Given the description of an element on the screen output the (x, y) to click on. 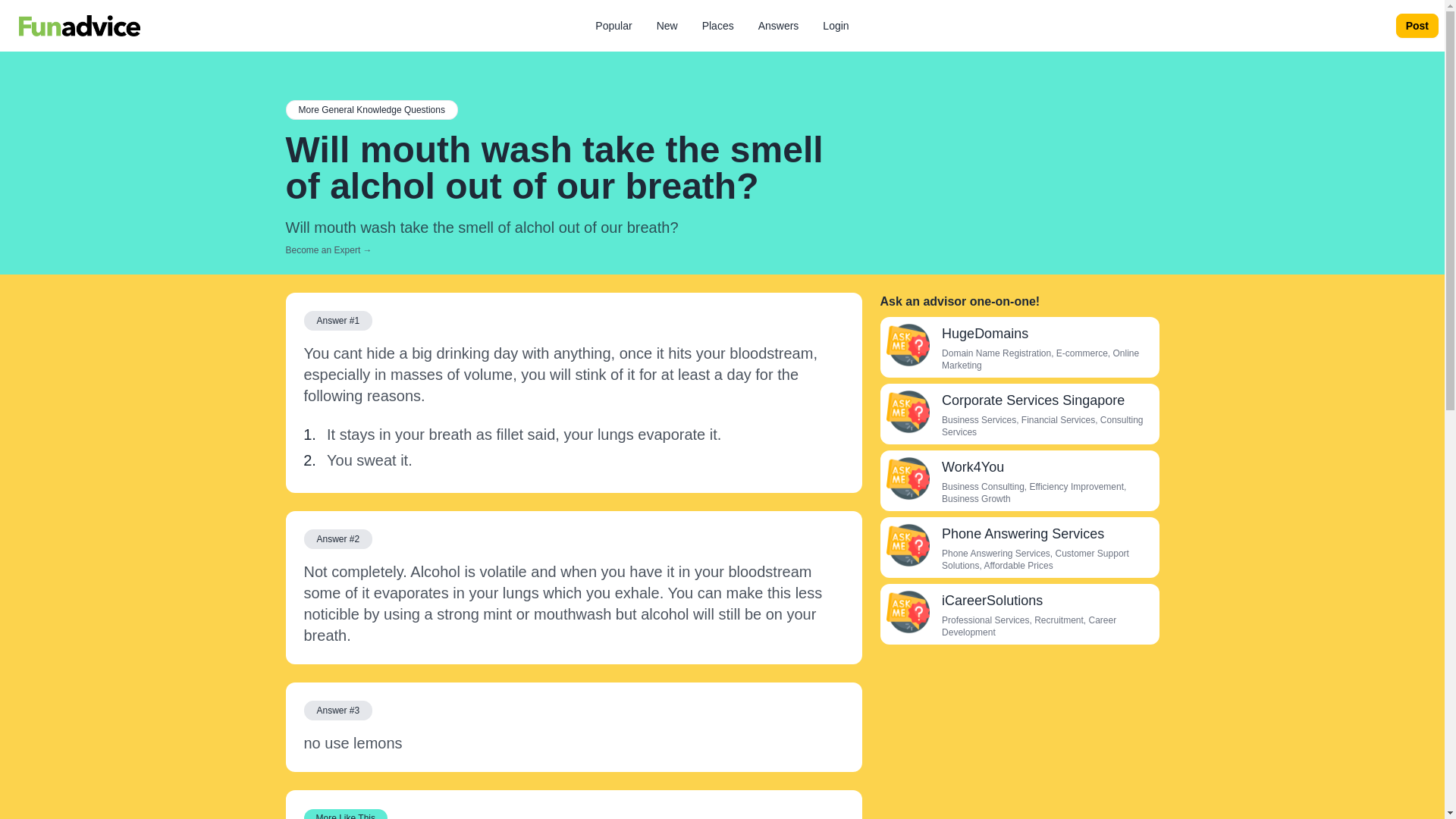
Post (1417, 25)
iCareerSolutions (992, 600)
Work4You (973, 467)
HugeDomains (984, 333)
Corporate Services Singapore (1033, 400)
Phone Answering Services (907, 545)
Places (717, 25)
General Knowledge Questions (371, 109)
New (667, 25)
Phone Answering Services (1022, 533)
Corporate Services Singapore (907, 411)
HugeDomains (907, 344)
More General Knowledge Questions (371, 109)
iCareerSolutions (907, 611)
Popular (613, 25)
